Given the description of an element on the screen output the (x, y) to click on. 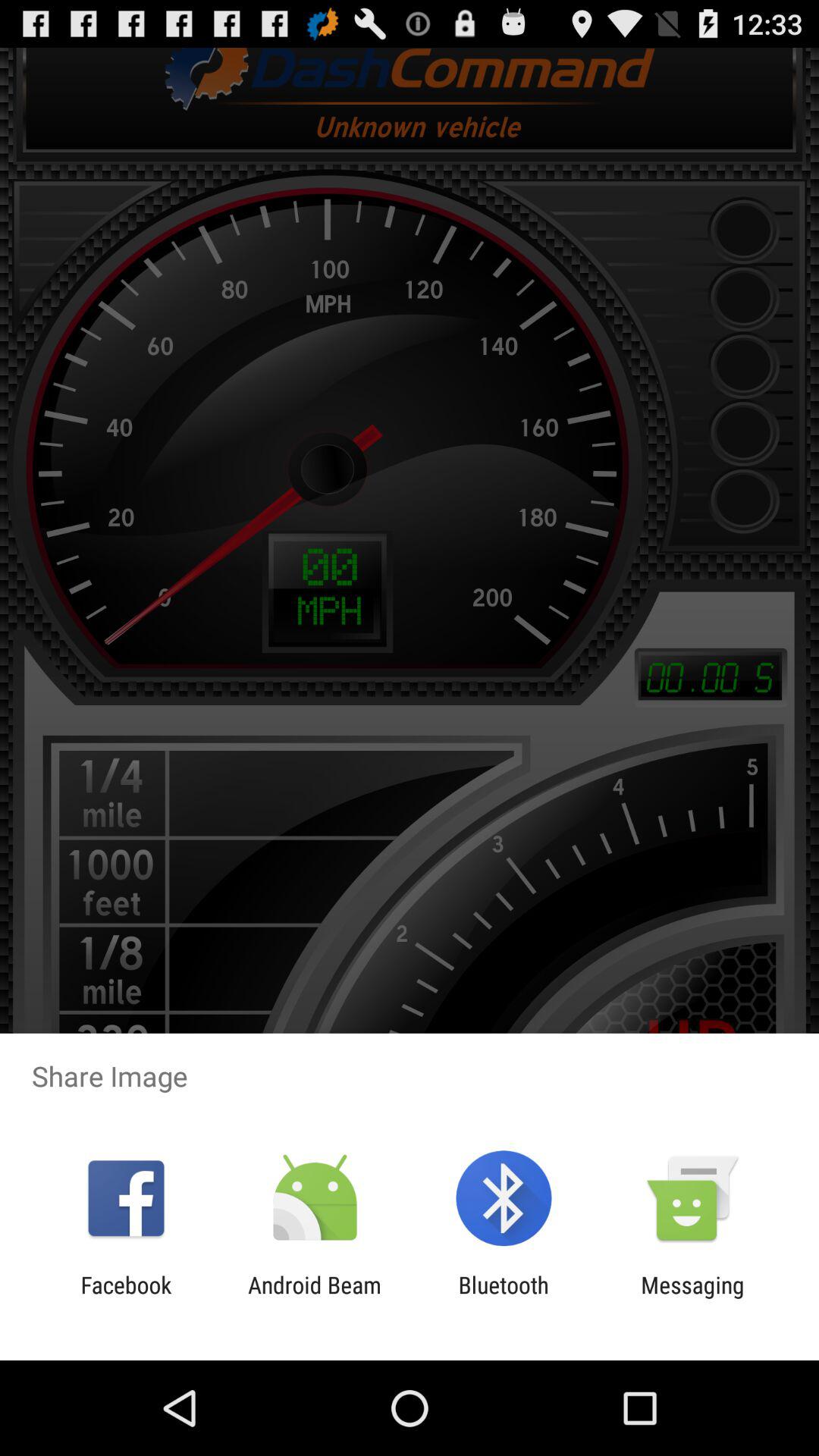
choose app next to the messaging item (503, 1298)
